Given the description of an element on the screen output the (x, y) to click on. 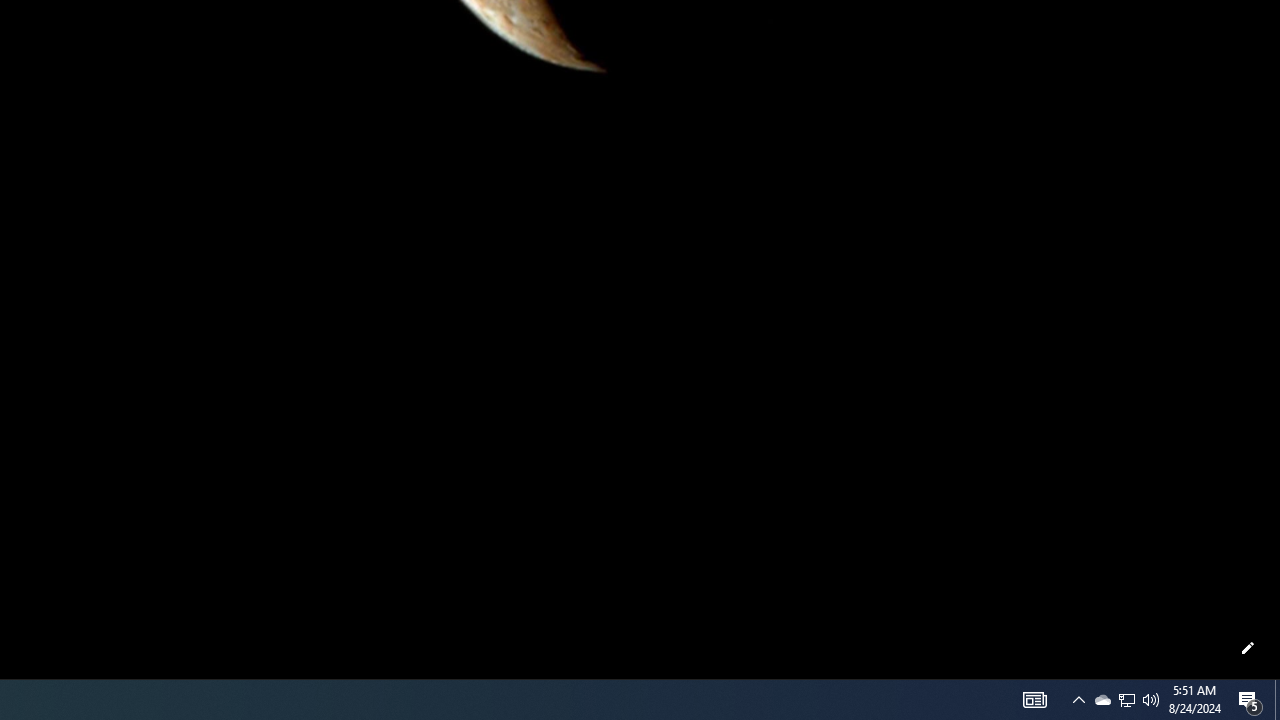
Customize this page (1247, 647)
